Given the description of an element on the screen output the (x, y) to click on. 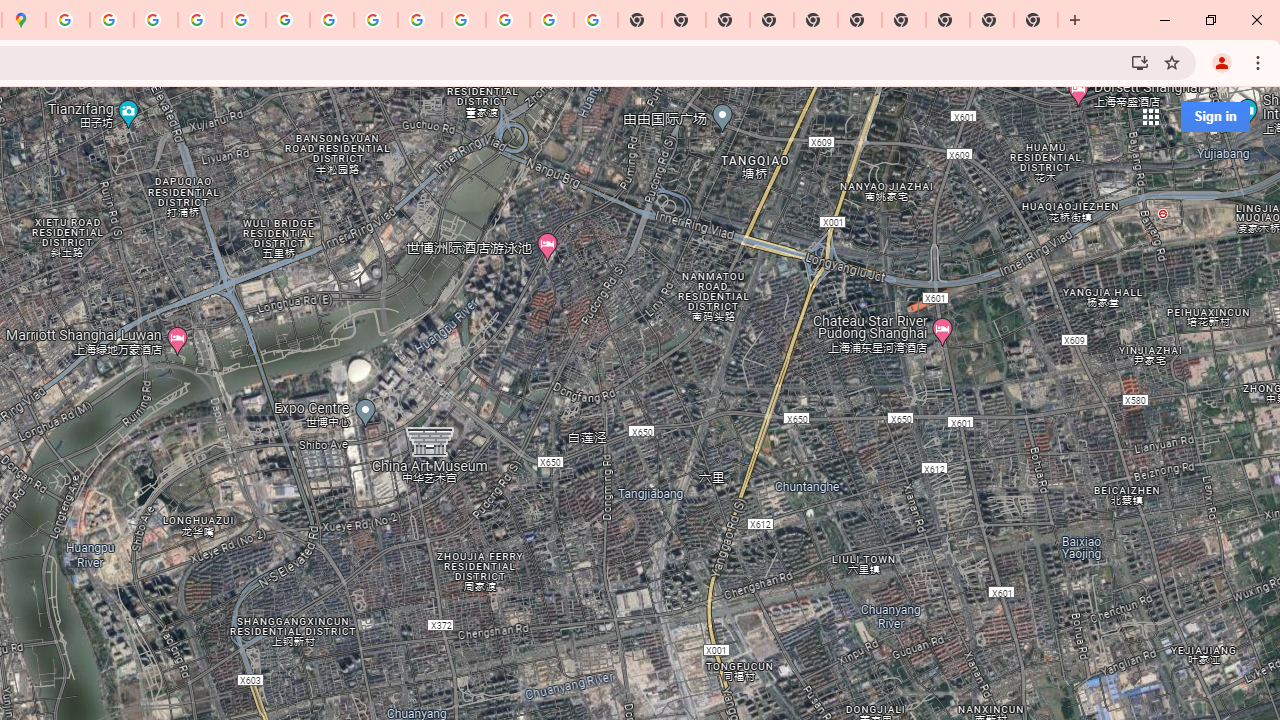
New Tab (771, 20)
Google Images (595, 20)
Privacy Help Center - Policies Help (155, 20)
Install Google Maps (1139, 62)
Sign in - Google Accounts (67, 20)
